Given the description of an element on the screen output the (x, y) to click on. 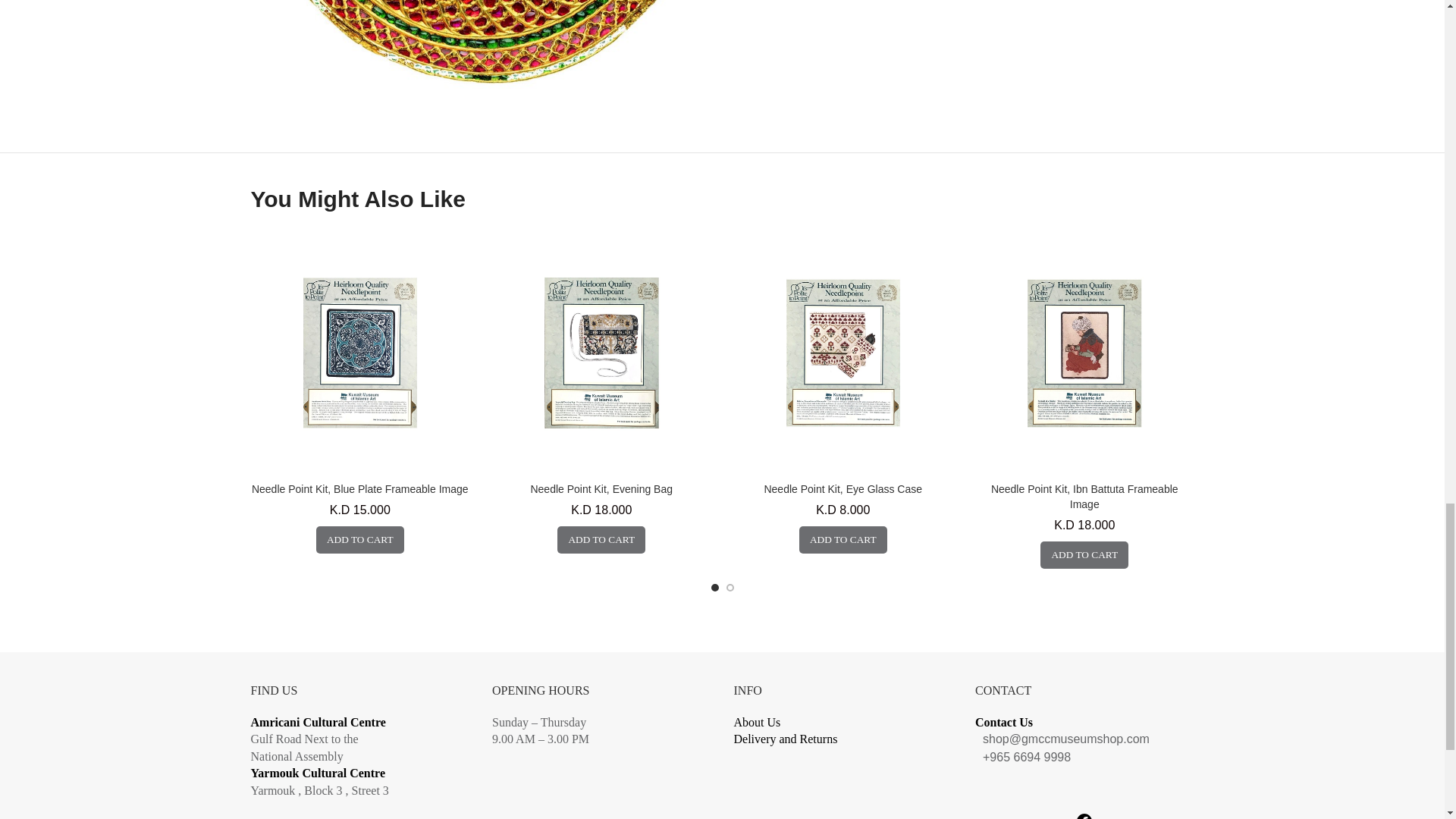
TOW (480, 47)
